Given the description of an element on the screen output the (x, y) to click on. 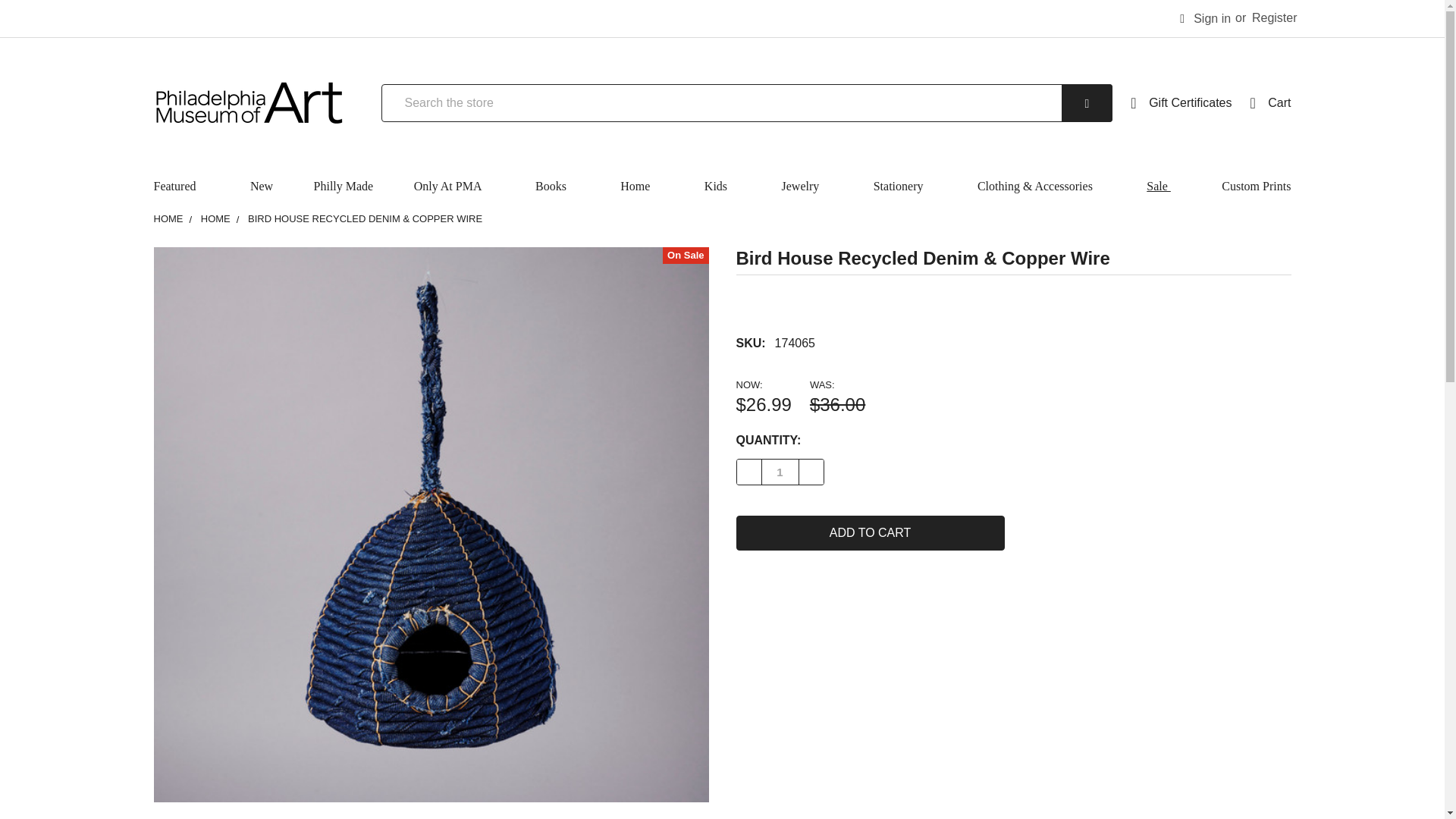
Search (1064, 103)
Cart (1269, 103)
Add to Cart (869, 532)
Register (1274, 18)
Only At PMA (453, 186)
Featured (188, 186)
Philadelphia Museum Of Art (247, 102)
Philly Made (343, 186)
Cart (1269, 103)
1 (779, 471)
